Given the description of an element on the screen output the (x, y) to click on. 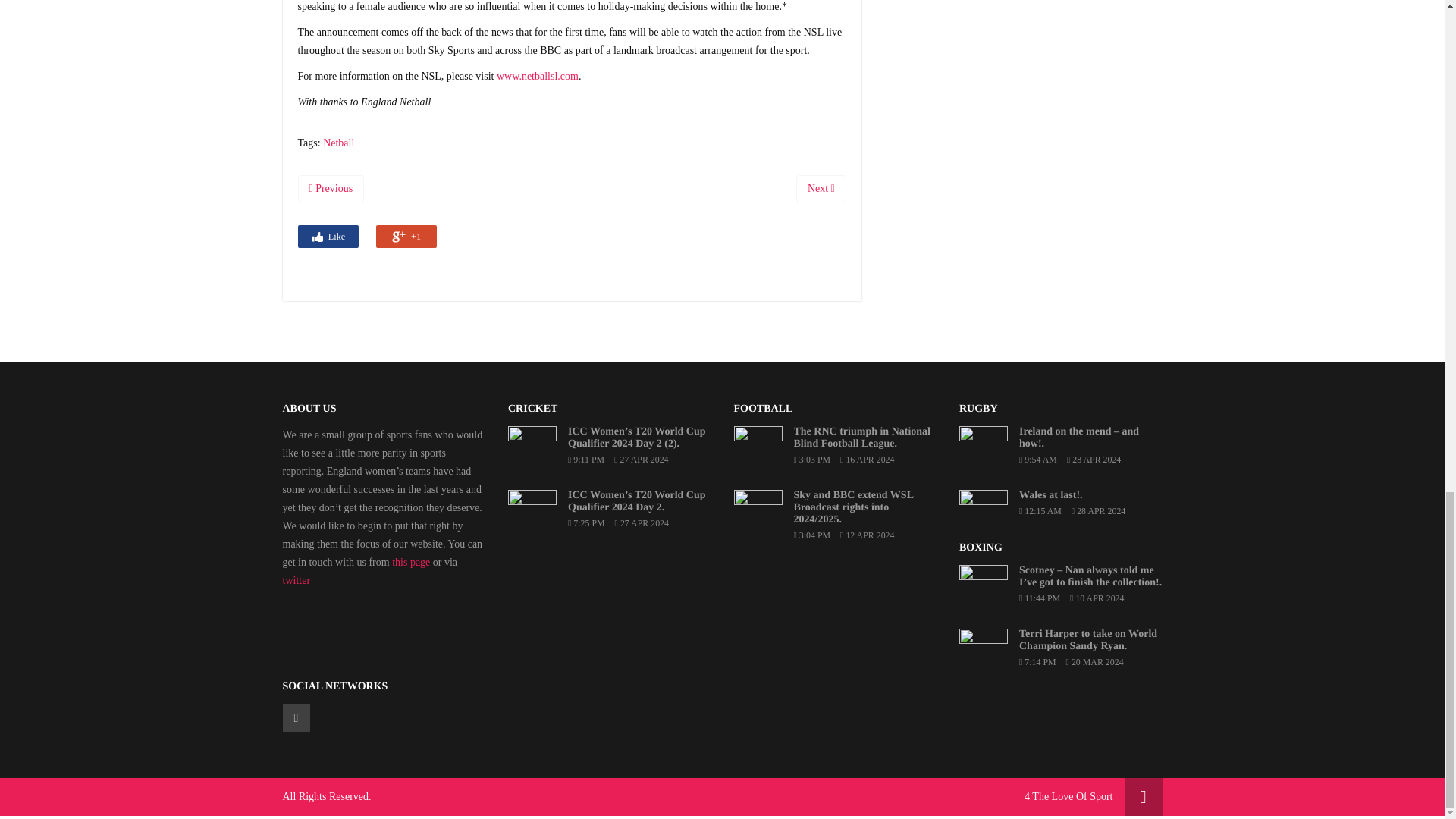
Share on Google Plus (405, 236)
Share on Facebook (327, 236)
Share on Twitter (367, 235)
